Given the description of an element on the screen output the (x, y) to click on. 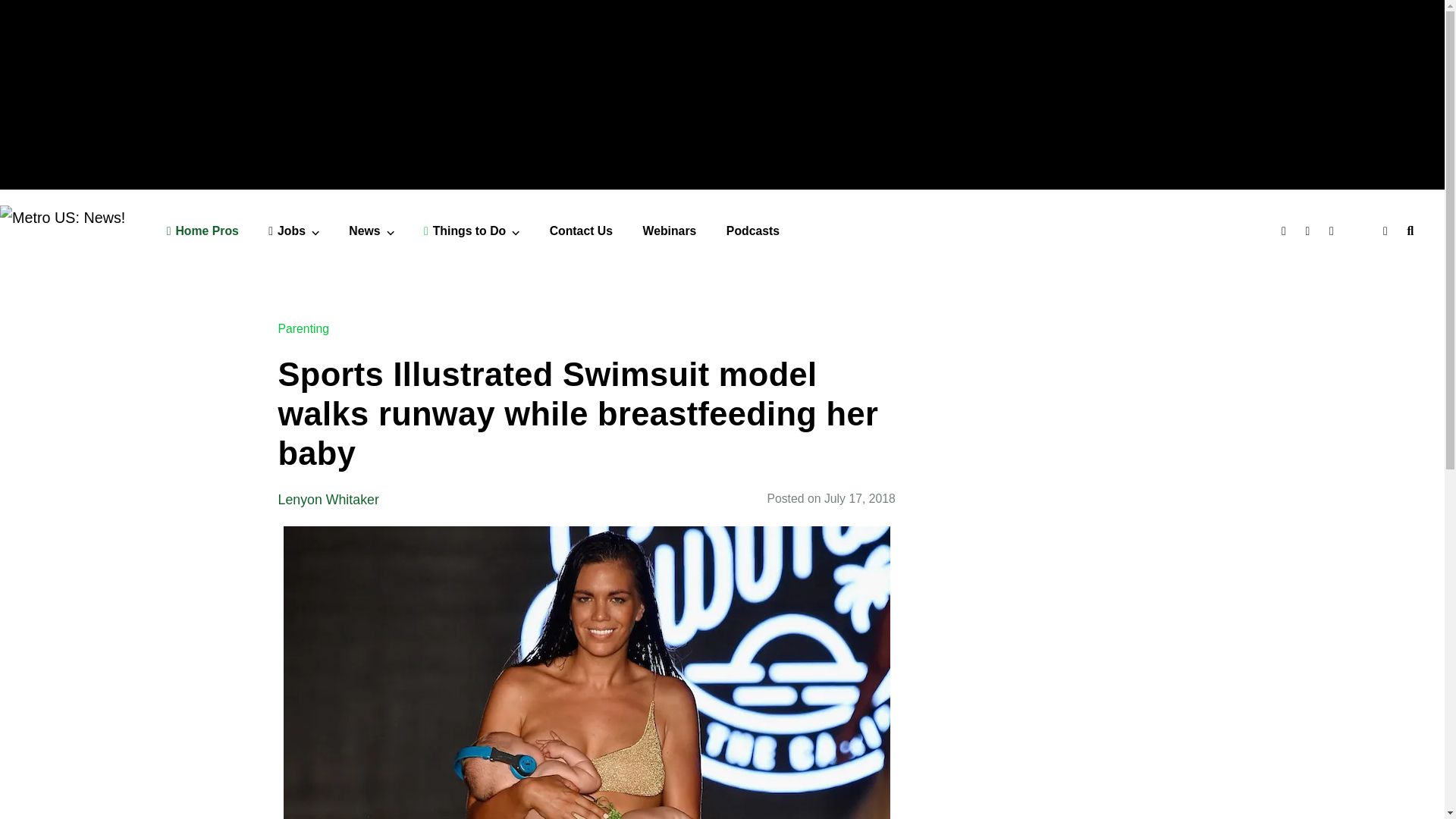
Contact Us (581, 230)
Home Pros (202, 230)
News (371, 230)
Jobs (292, 230)
Podcasts (752, 230)
Webinars (670, 230)
Things to Do (471, 230)
